Given the description of an element on the screen output the (x, y) to click on. 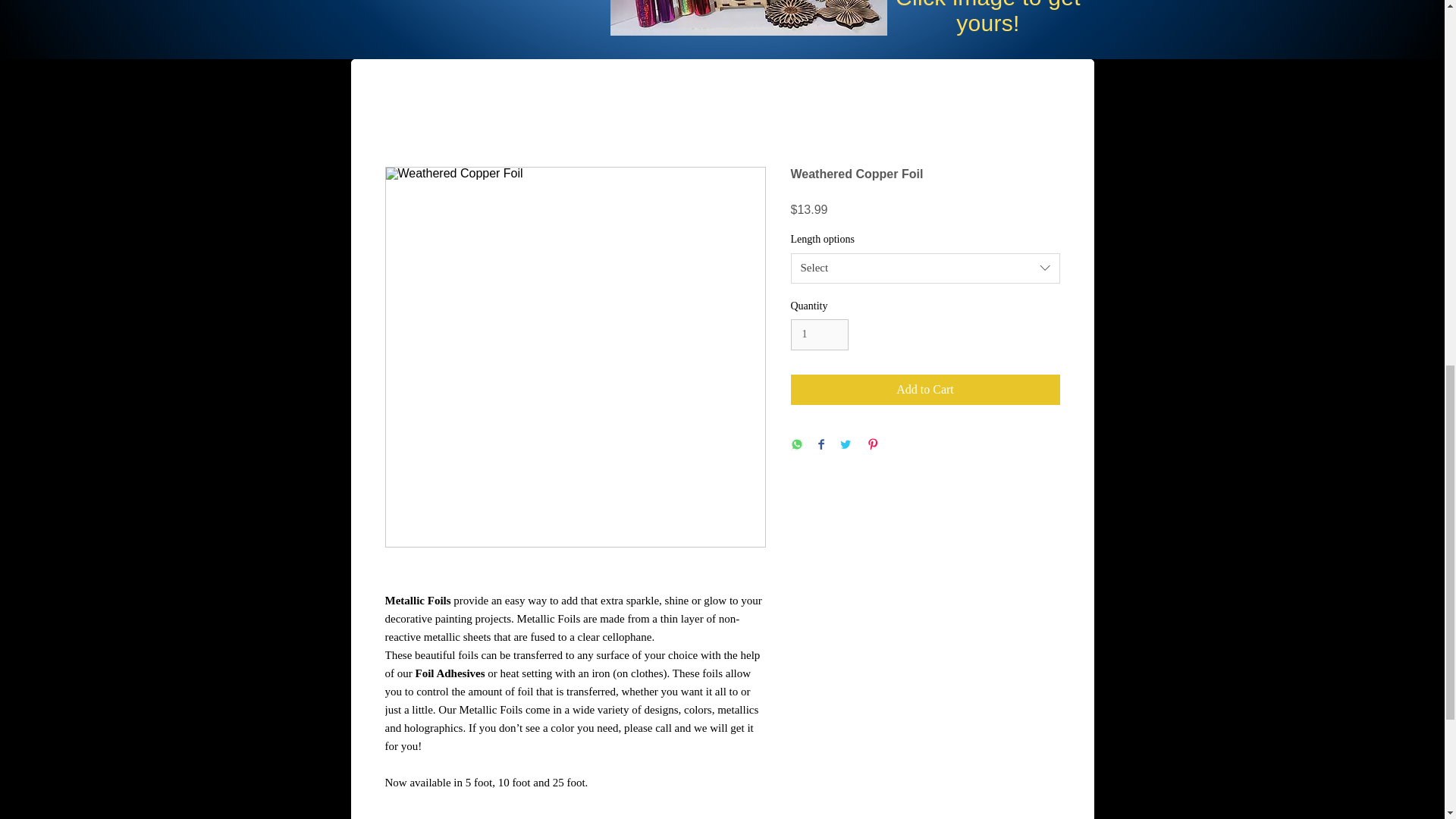
1 (818, 334)
